Given the description of an element on the screen output the (x, y) to click on. 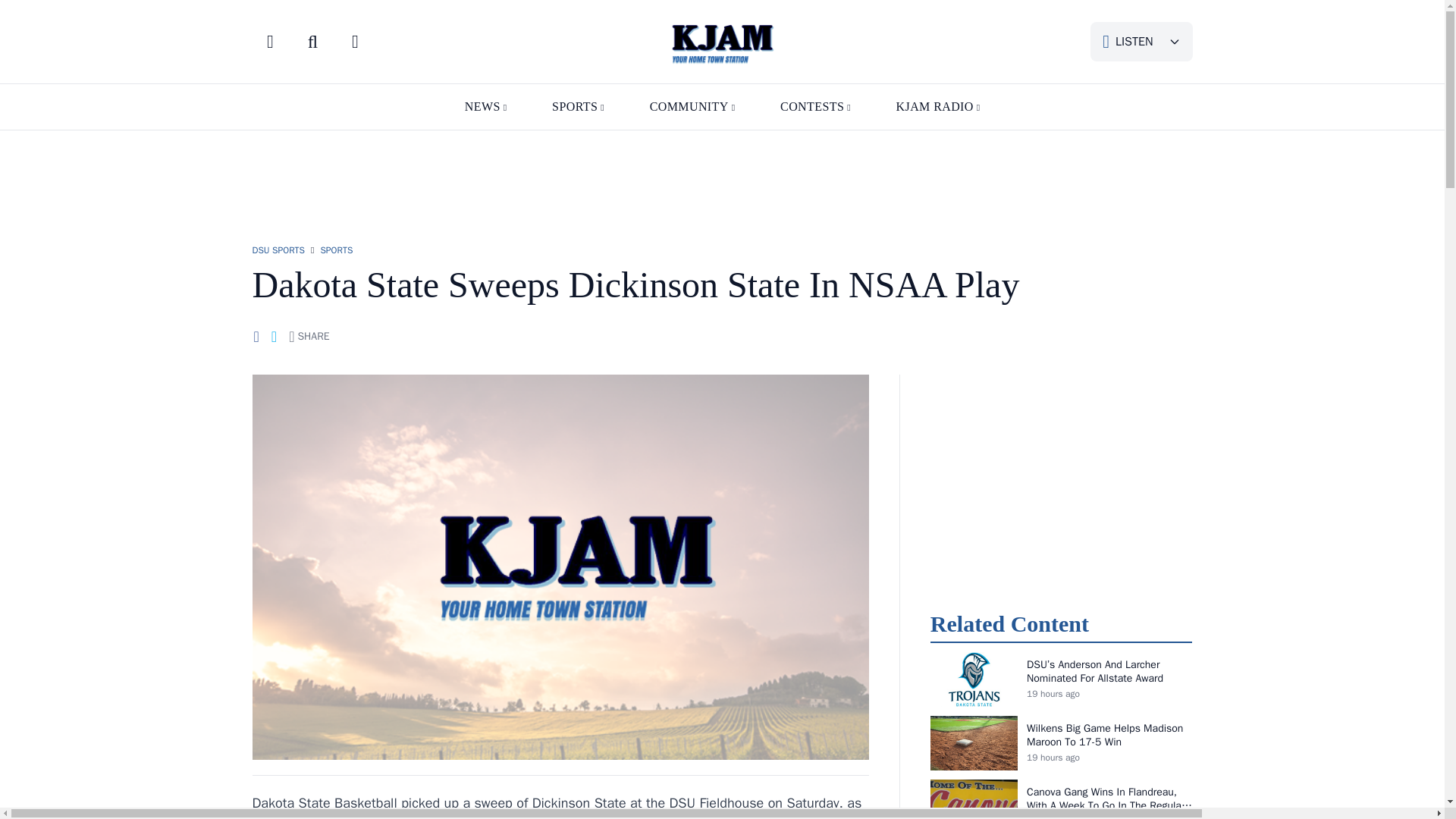
3rd party ad content (1060, 484)
3rd party ad content (721, 179)
